Given the description of an element on the screen output the (x, y) to click on. 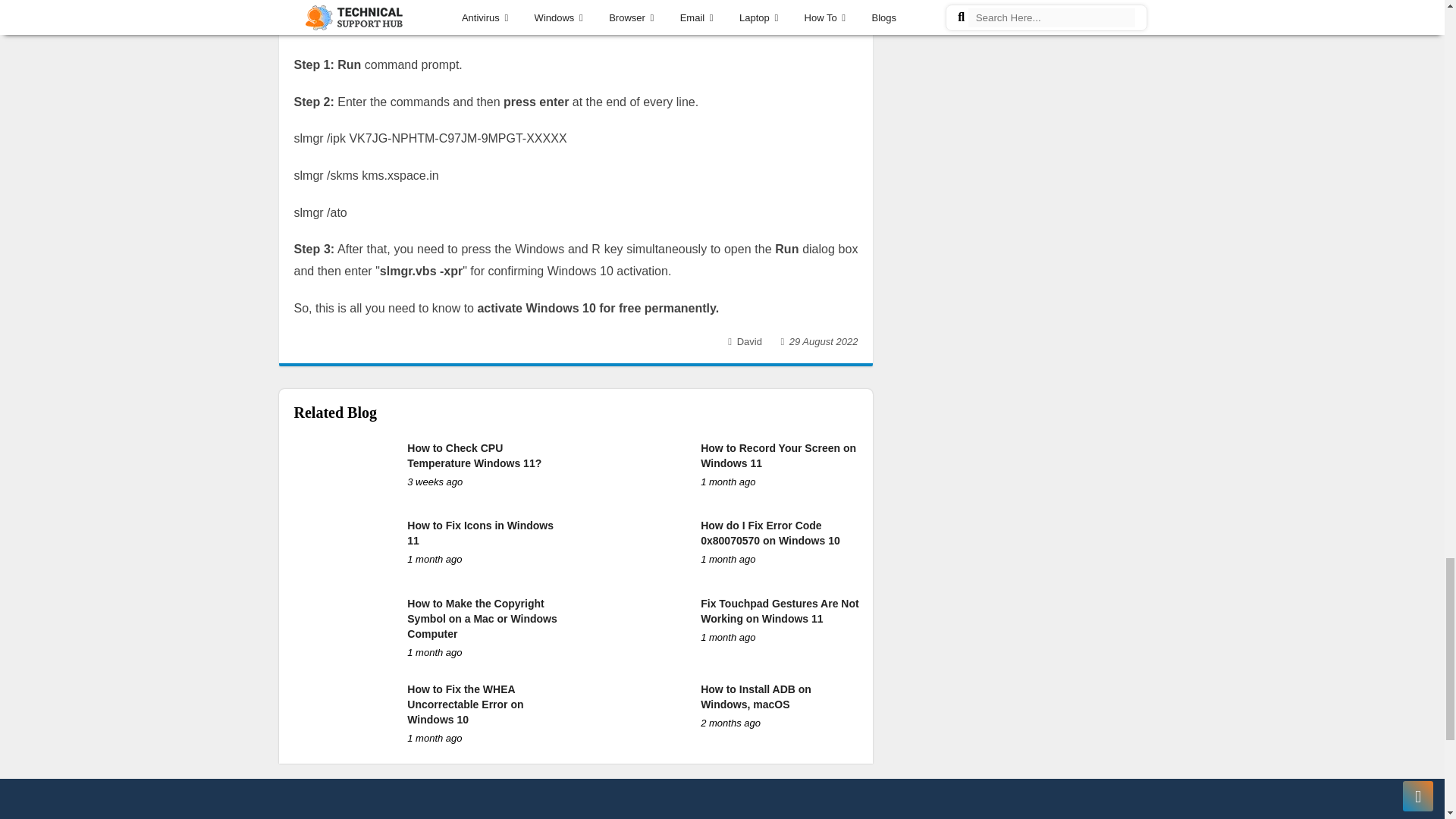
How to Record Your Screen on Windows 11 (778, 455)
Fix Touchpad Gestures Are Not Working on Windows 11 (779, 610)
How to Fix the WHEA Uncorrectable Error on Windows 10 (464, 704)
How to Check CPU Temperature Windows 11? (474, 455)
How do I Fix Error Code 0x80070570 on Windows 10 (770, 533)
How to Fix Icons in Windows 11 (480, 533)
How to Install ADB on Windows, macOS (755, 696)
